Given the description of an element on the screen output the (x, y) to click on. 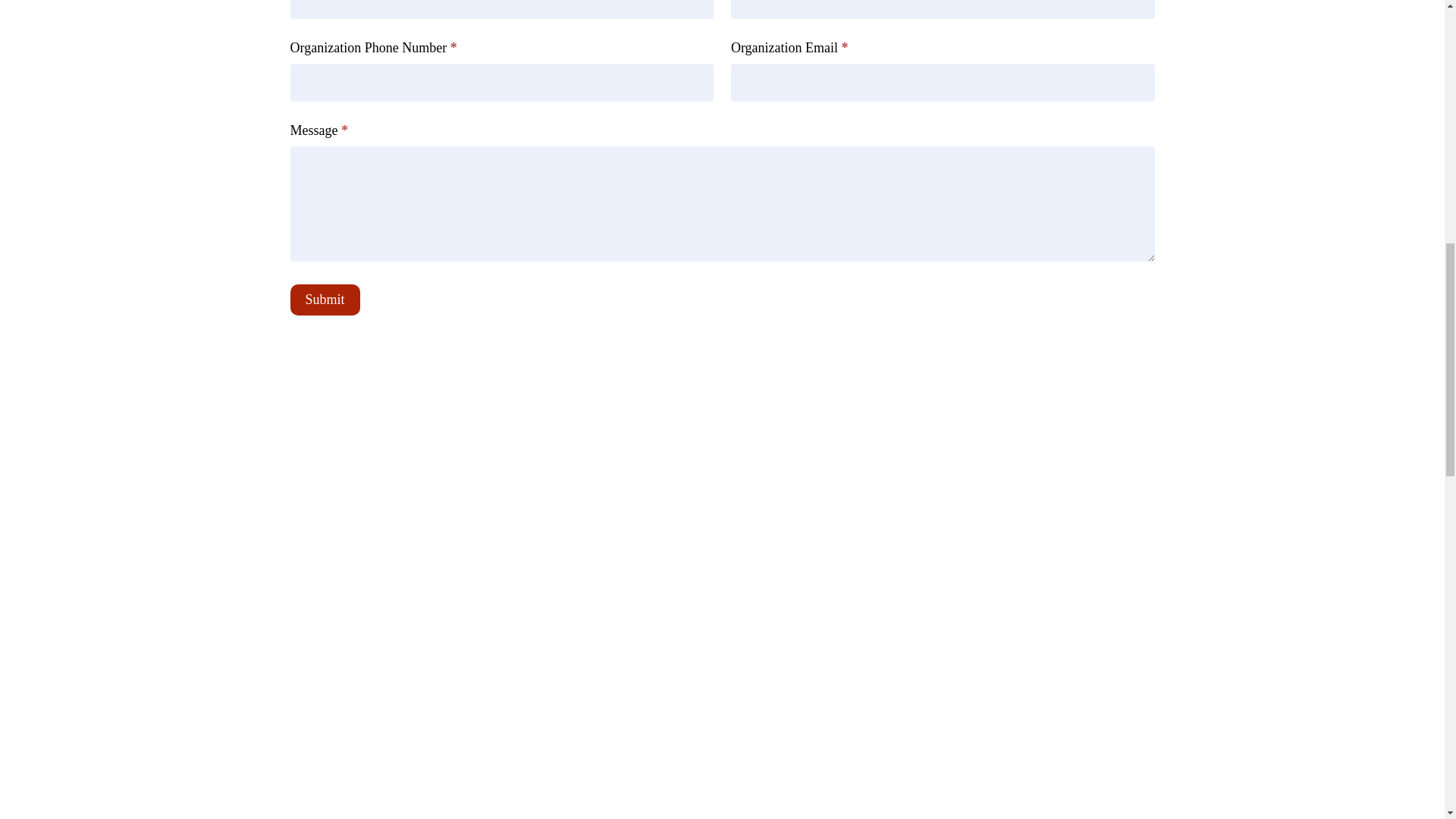
Submit (324, 299)
